Given the description of an element on the screen output the (x, y) to click on. 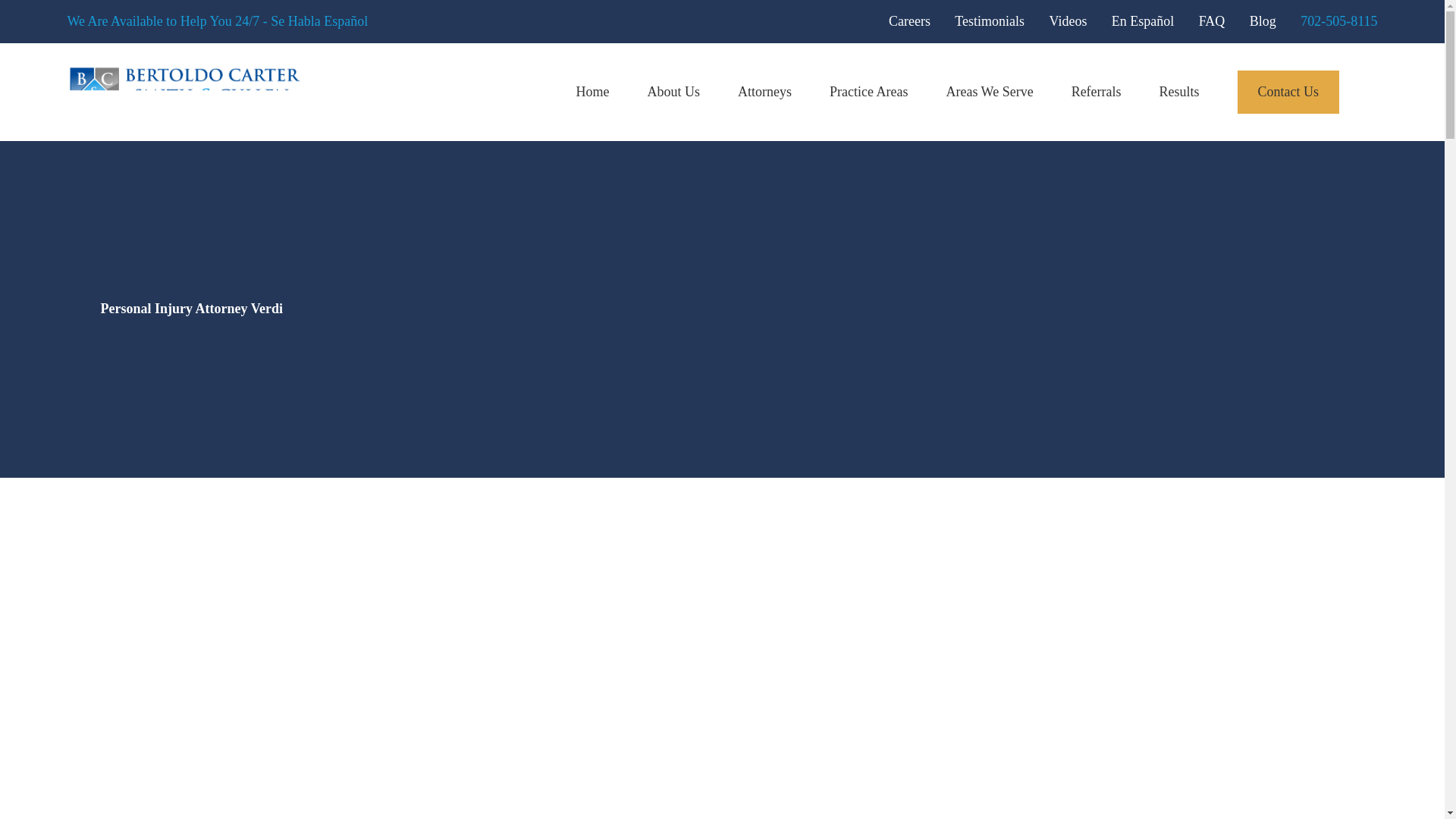
Blog (1262, 20)
Attorneys (765, 91)
Videos (1067, 20)
FAQ (1211, 20)
Home (183, 91)
Testimonials (990, 20)
About Us (673, 91)
Practice Areas (868, 91)
Careers (909, 20)
702-505-8115 (1338, 20)
